Given the description of an element on the screen output the (x, y) to click on. 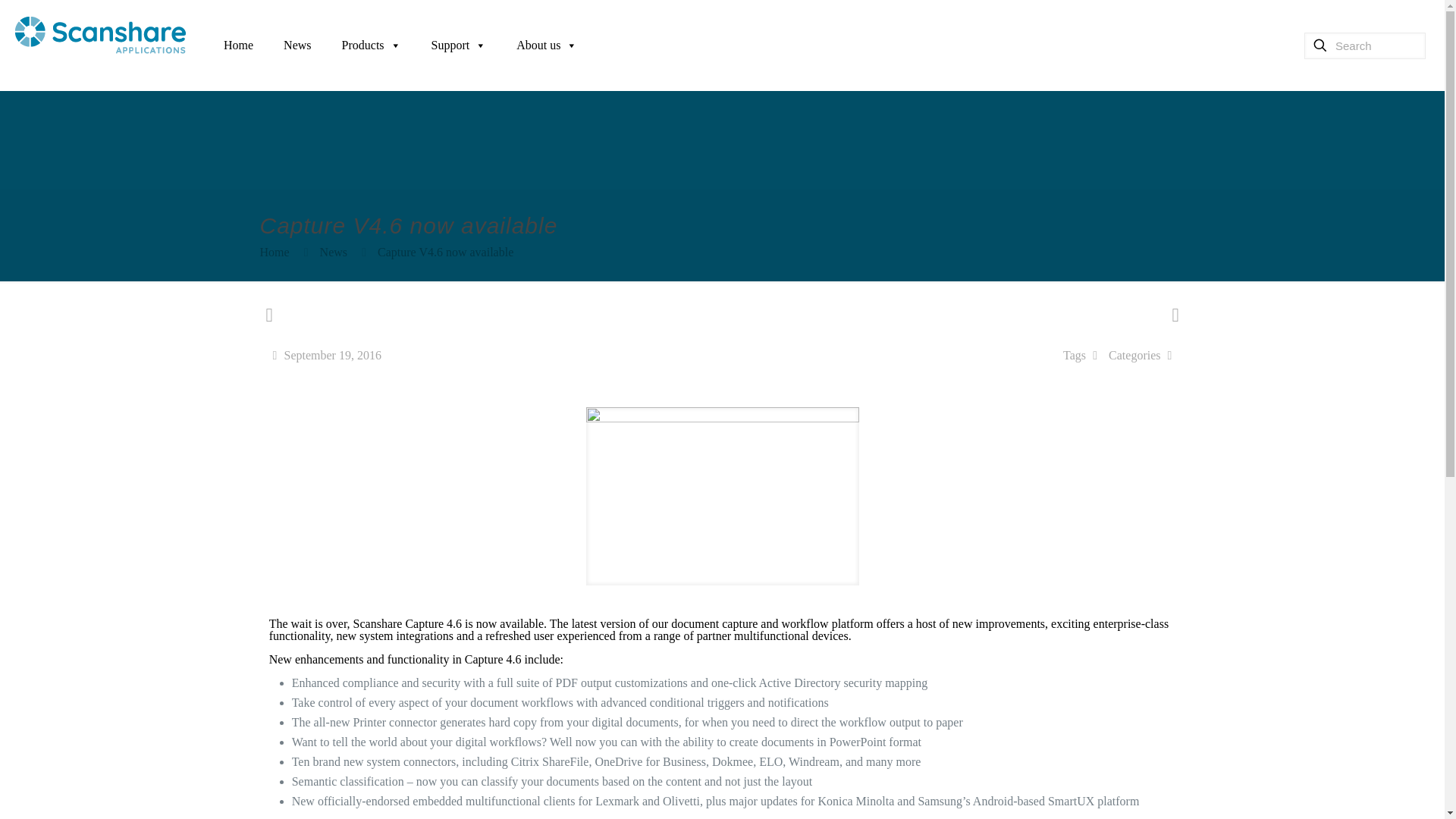
Scanshare Applications (100, 33)
News (333, 251)
Support (459, 45)
About us (546, 45)
Home (273, 251)
Products (371, 45)
Capture V4.6 now available (445, 251)
